Given the description of an element on the screen output the (x, y) to click on. 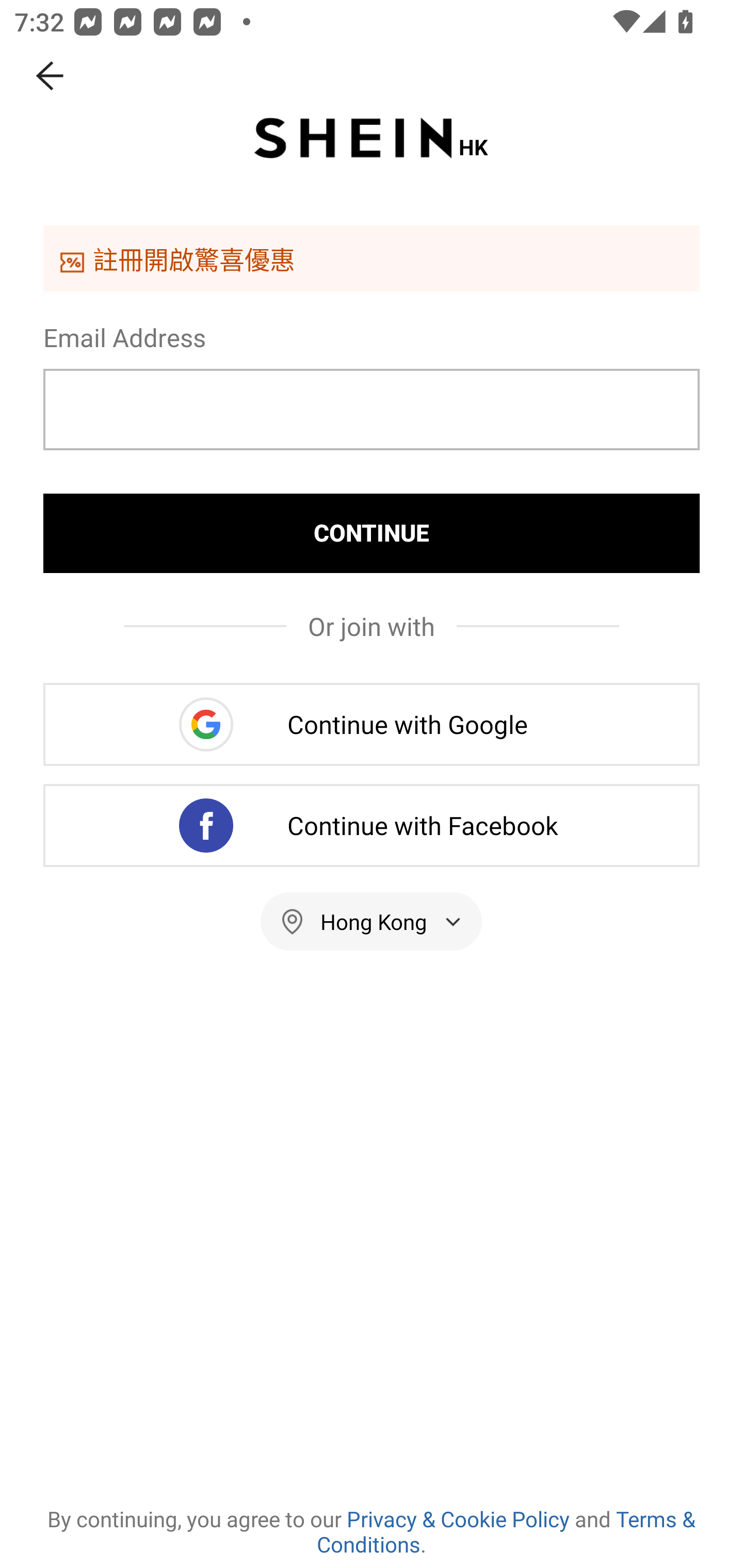
CLOSE (50, 75)
CONTINUE (371, 532)
Continue with Google (371, 724)
Continue with Facebook (371, 825)
Hong Kong (371, 921)
